Given the description of an element on the screen output the (x, y) to click on. 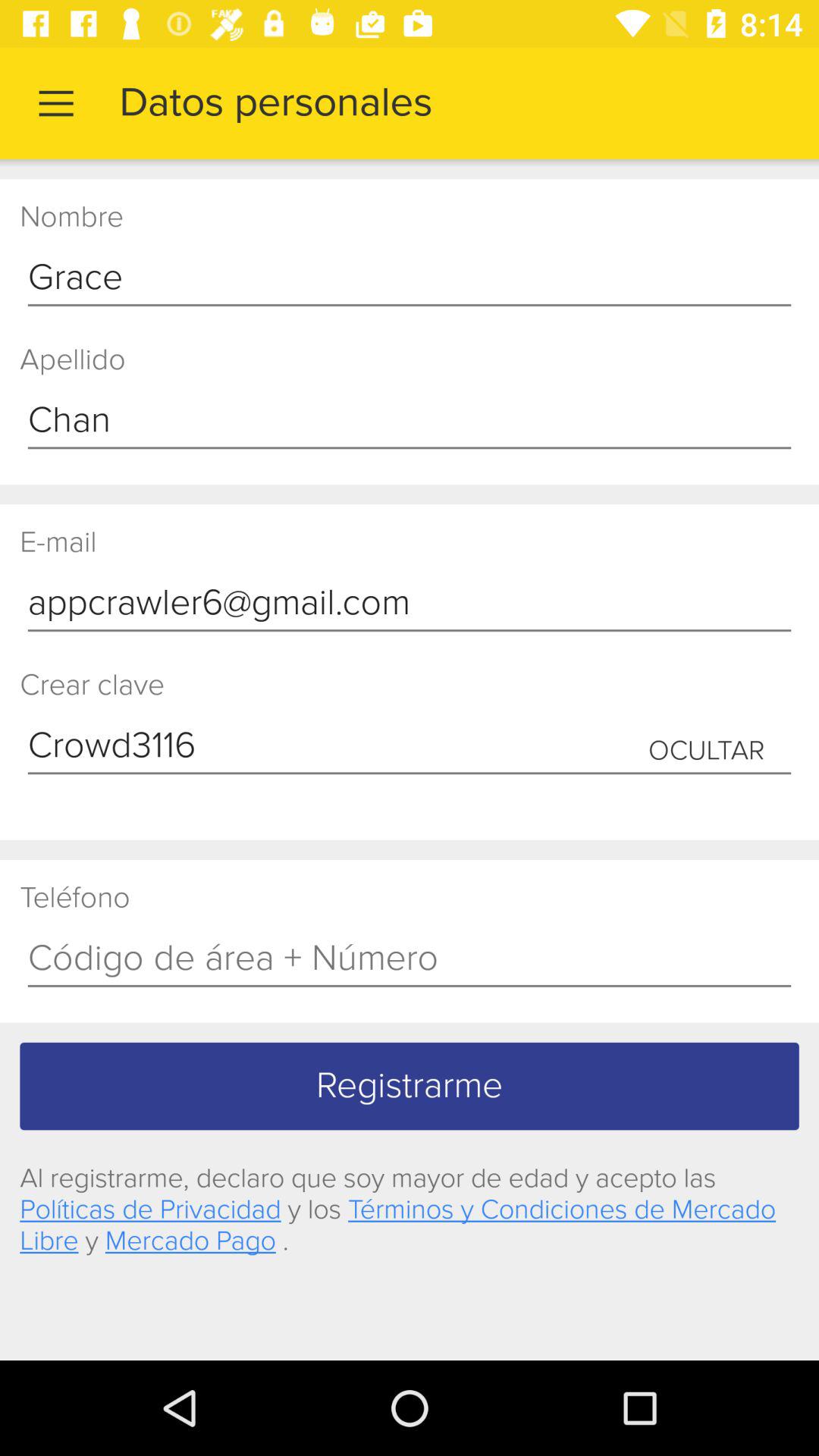
open icon above the e-mail item (409, 421)
